Given the description of an element on the screen output the (x, y) to click on. 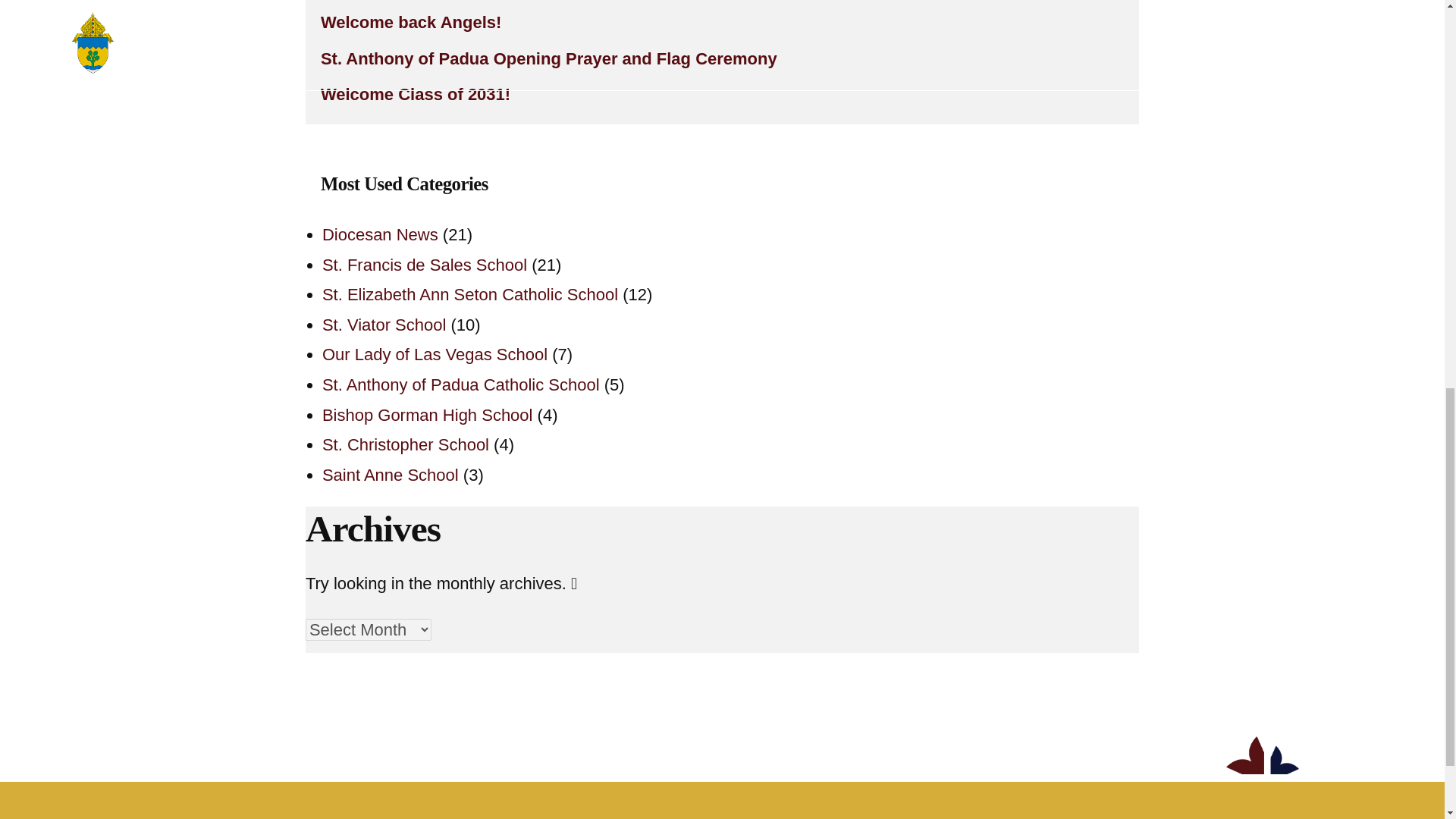
Diocesan News (379, 234)
St. Elizabeth Ann Seton Catholic School (469, 294)
Welcome Class of 2031! (721, 94)
St. Anthony of Padua Opening Prayer and Flag Ceremony (721, 58)
St. Francis de Sales School (424, 264)
Welcome back Angels!  (721, 22)
